Given the description of an element on the screen output the (x, y) to click on. 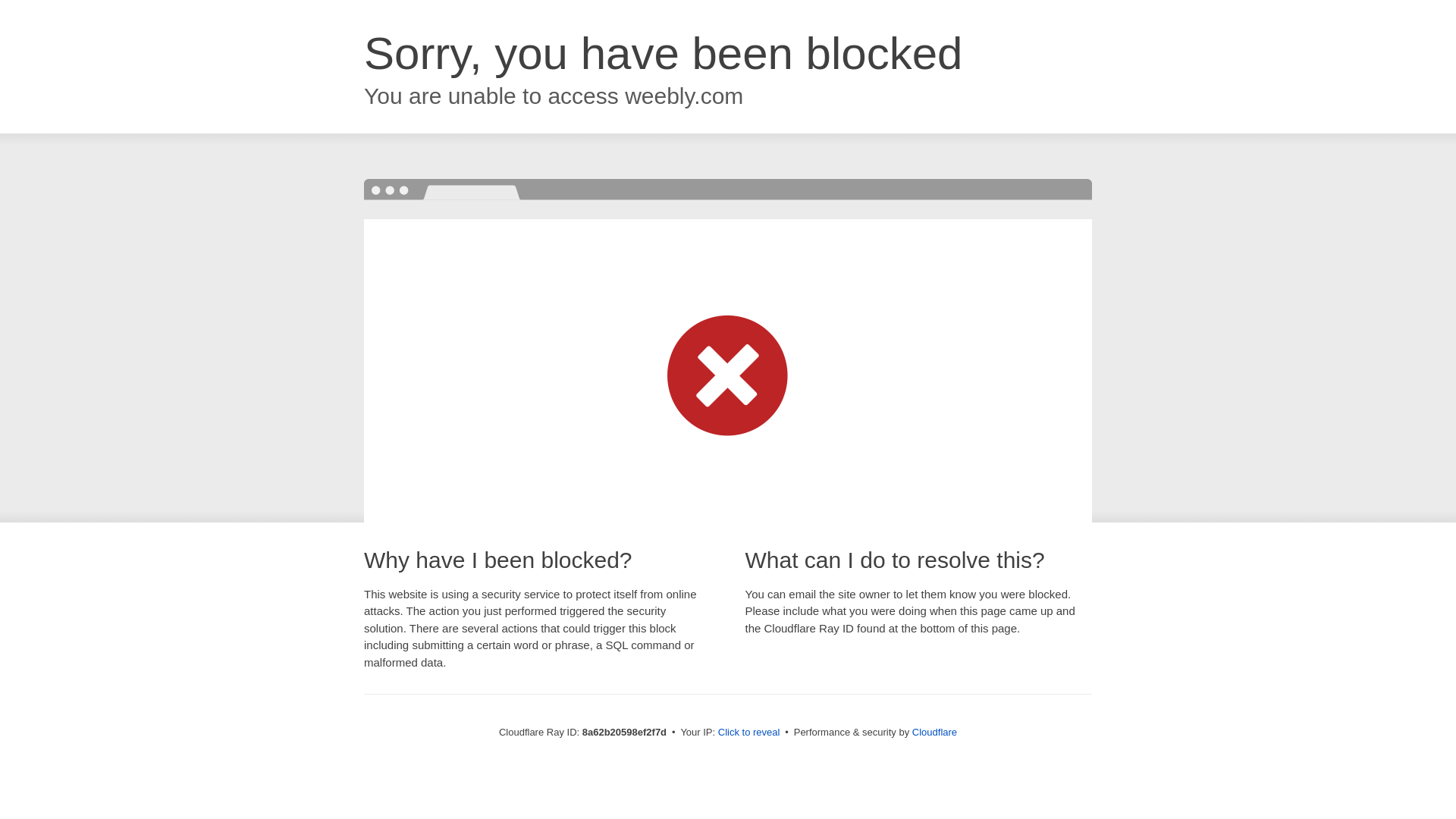
Click to reveal (748, 732)
Cloudflare (934, 731)
